Given the description of an element on the screen output the (x, y) to click on. 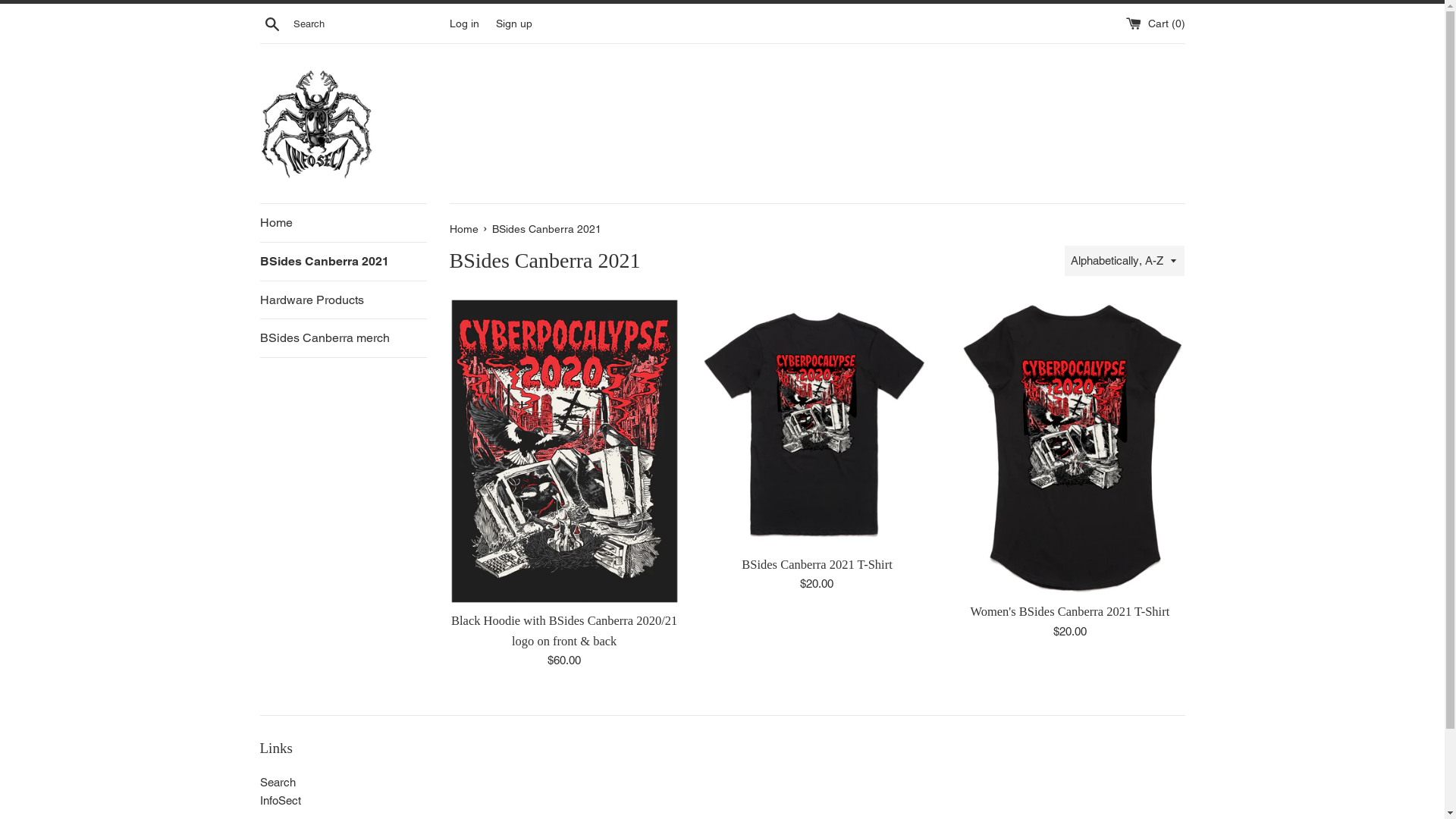
Hardware Products Element type: text (342, 300)
InfoSect Element type: text (279, 799)
Log in Element type: text (463, 22)
Women's BSides Canberra 2021 T-Shirt Element type: text (1069, 611)
Women's BSides Canberra 2021 T-Shirt Element type: hover (1069, 446)
BSides Canberra 2021 Element type: text (342, 261)
Home Element type: text (464, 228)
Home Element type: text (342, 222)
Search Element type: text (271, 23)
Sign up Element type: text (513, 22)
Cart (0) Element type: text (1154, 22)
BSides Canberra 2021 T-Shirt Element type: hover (816, 422)
BSides Canberra 2021 T-Shirt Element type: text (816, 564)
BSides Canberra merch Element type: text (342, 338)
Search Element type: text (276, 781)
